Given the description of an element on the screen output the (x, y) to click on. 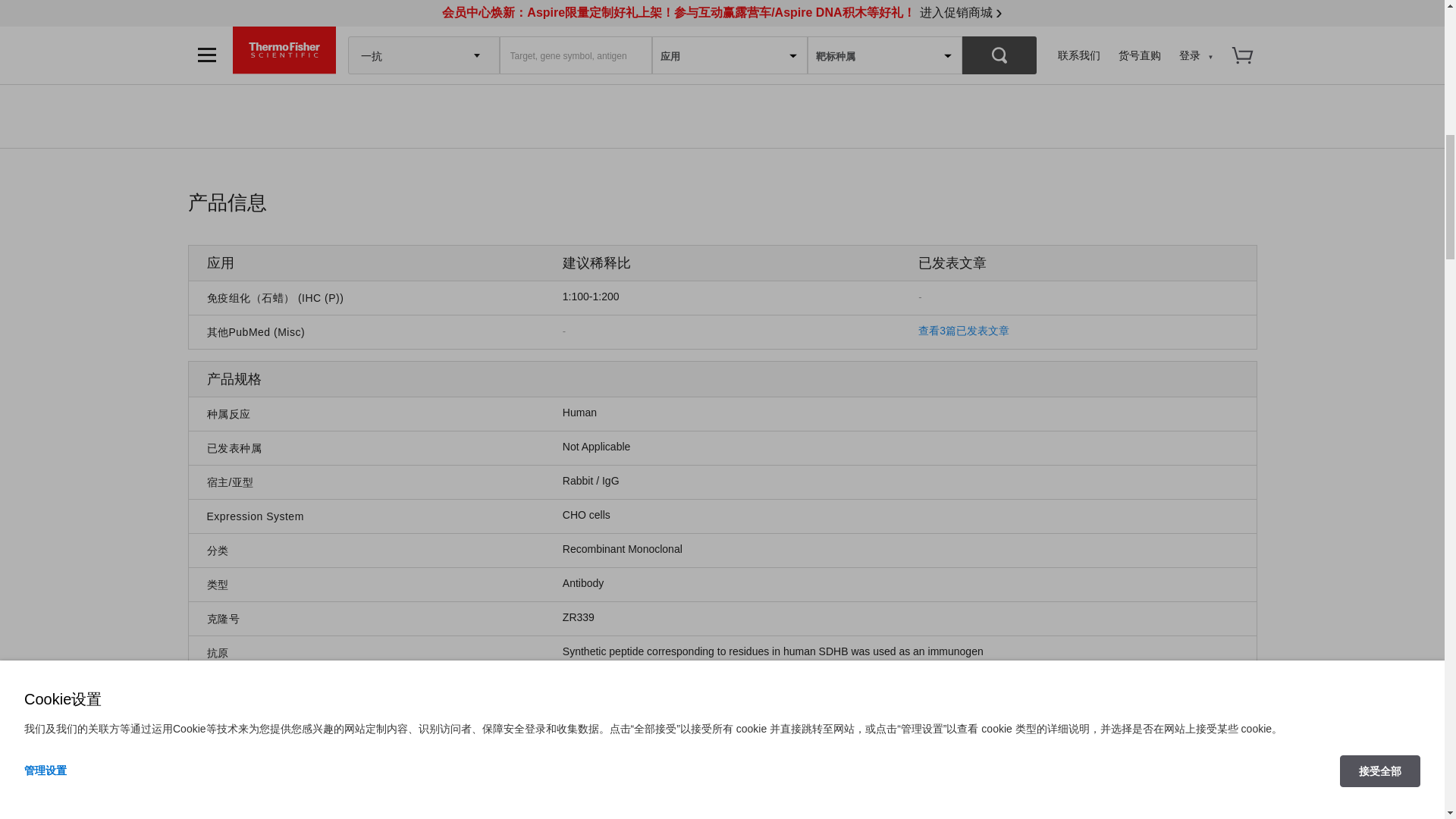
Oryctolagus cuniculus (591, 480)
Homo sapiens (579, 412)
